Given the description of an element on the screen output the (x, y) to click on. 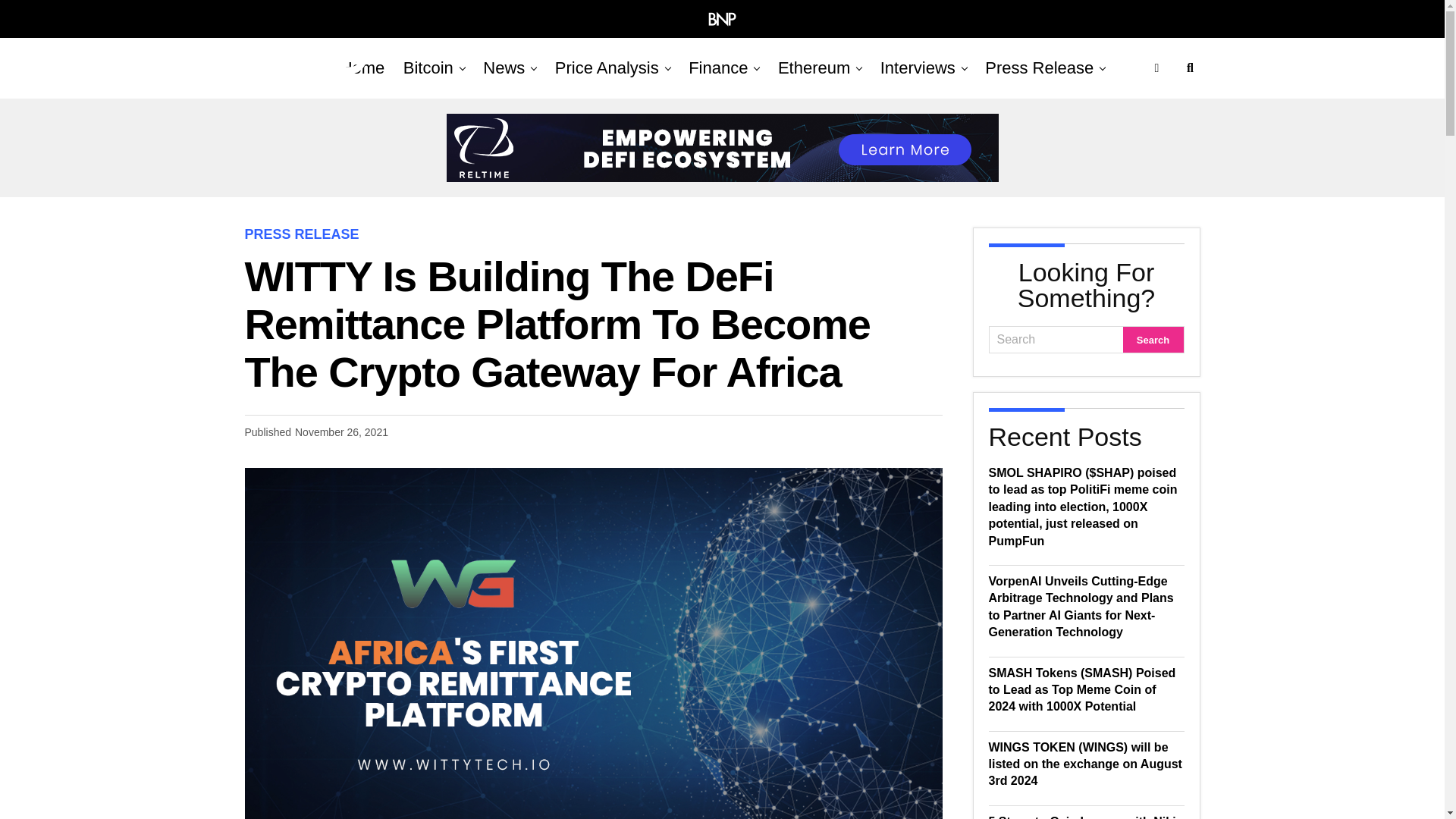
Bitcoin (428, 67)
Finance (718, 67)
Interviews (917, 67)
Search (1152, 339)
Home (363, 67)
Search (1055, 339)
Price Analysis (606, 67)
Press Release (1038, 67)
Ethereum (813, 67)
News (504, 67)
